Given the description of an element on the screen output the (x, y) to click on. 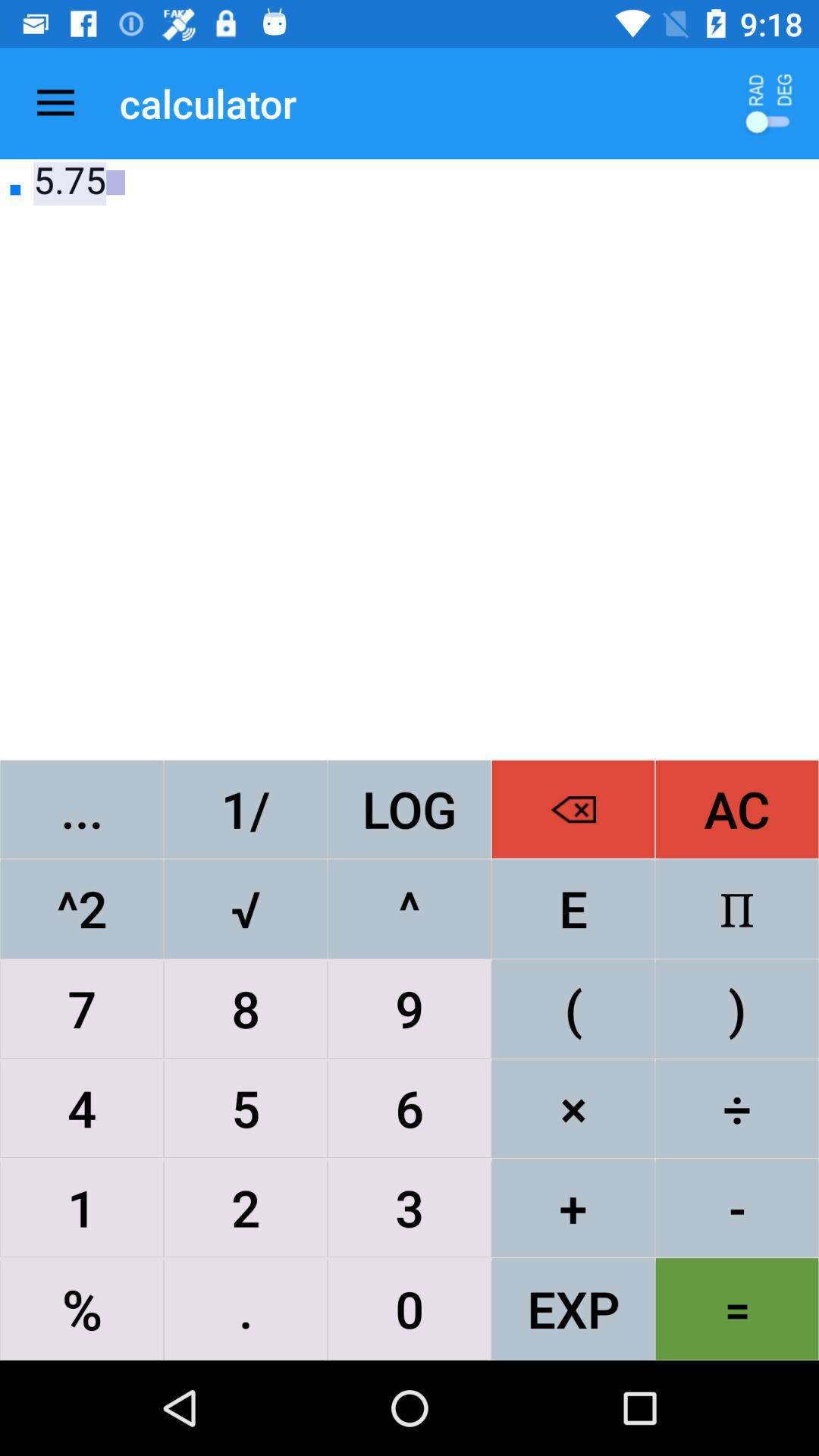
turn off the log (409, 809)
